Given the description of an element on the screen output the (x, y) to click on. 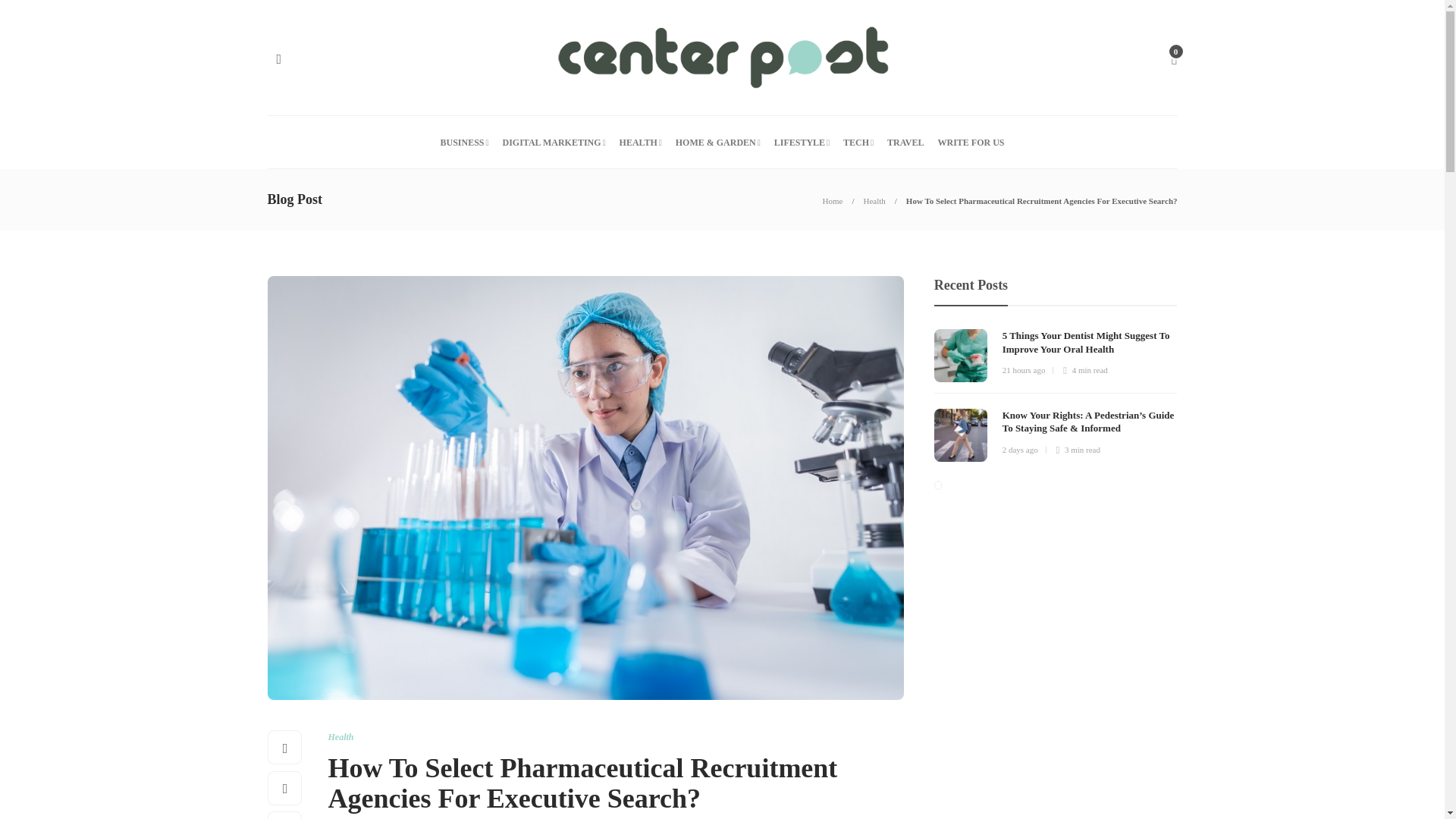
Home (832, 200)
